Given the description of an element on the screen output the (x, y) to click on. 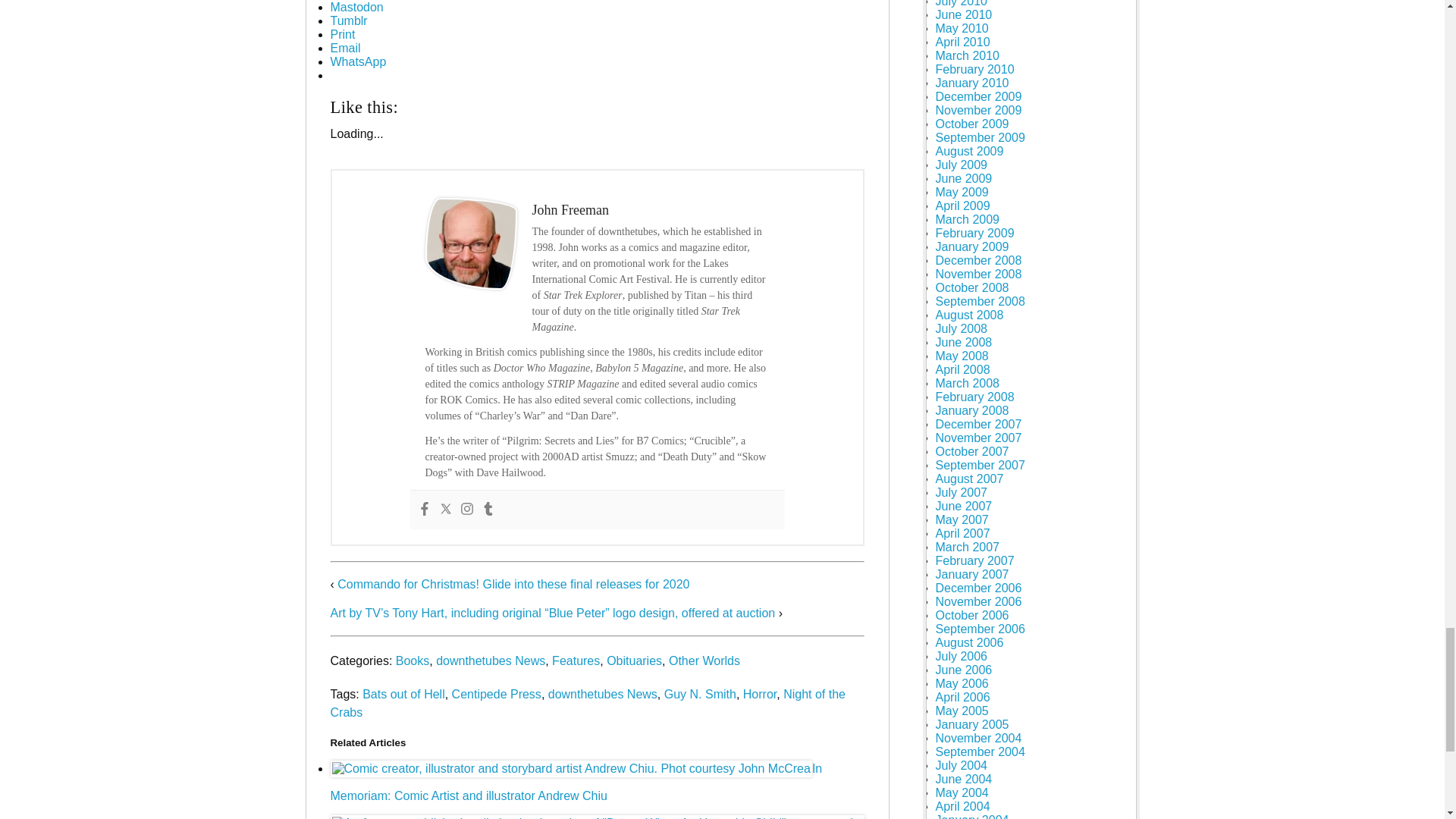
Click to print (342, 33)
Click to share on WhatsApp (358, 61)
Click to share on Mastodon (357, 6)
Click to email a link to a friend (345, 47)
Click to share on Tumblr (349, 20)
